Given the description of an element on the screen output the (x, y) to click on. 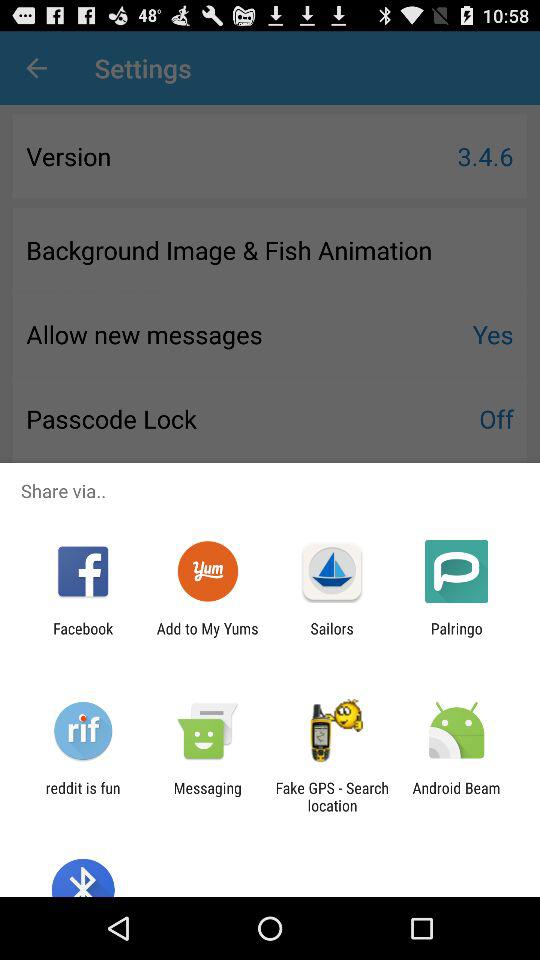
press the icon to the right of the sailors (456, 637)
